Given the description of an element on the screen output the (x, y) to click on. 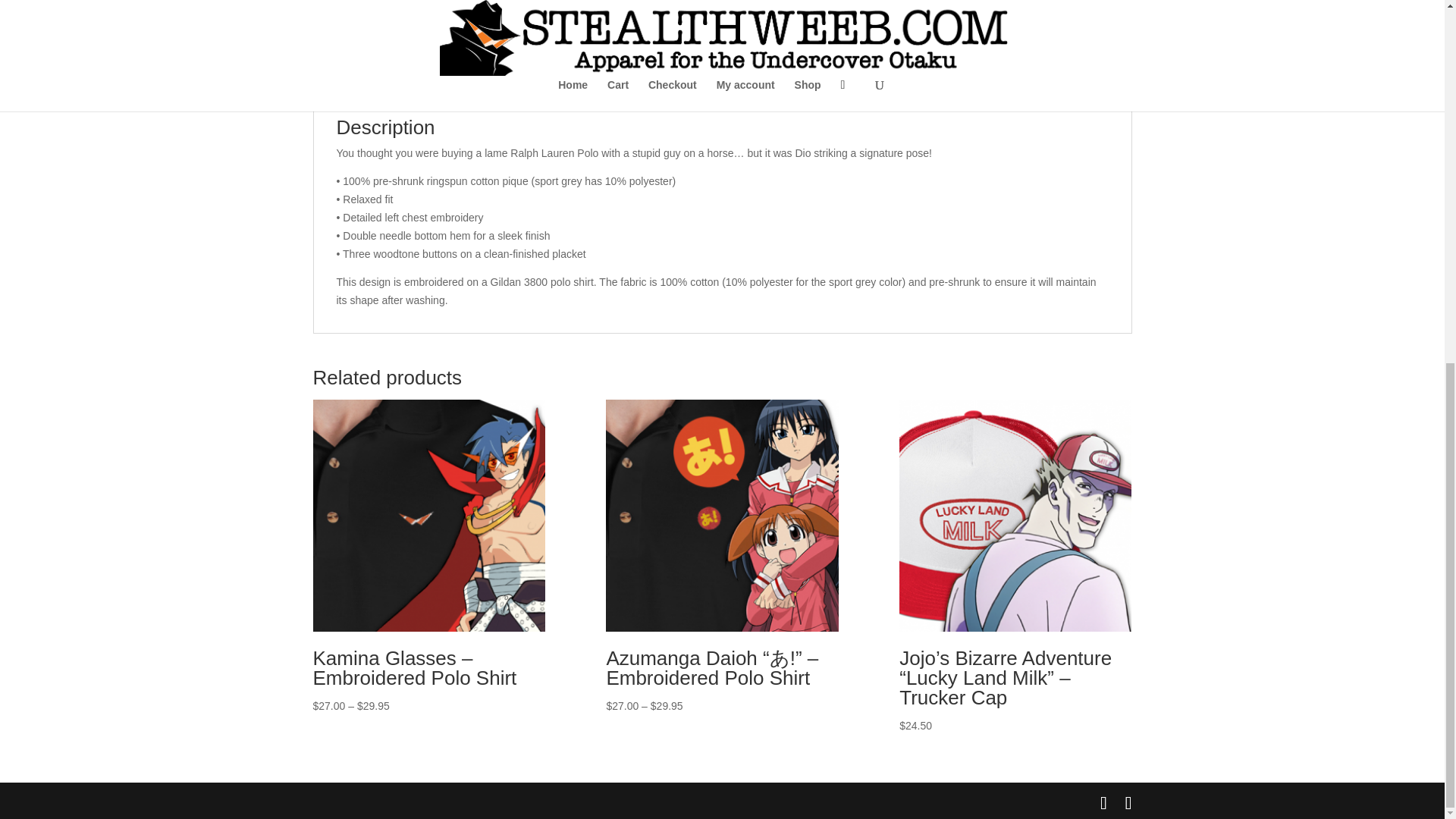
Size Chart (687, 81)
Next (702, 2)
Description (358, 81)
Additional information (477, 81)
Previous (315, 2)
